Given the description of an element on the screen output the (x, y) to click on. 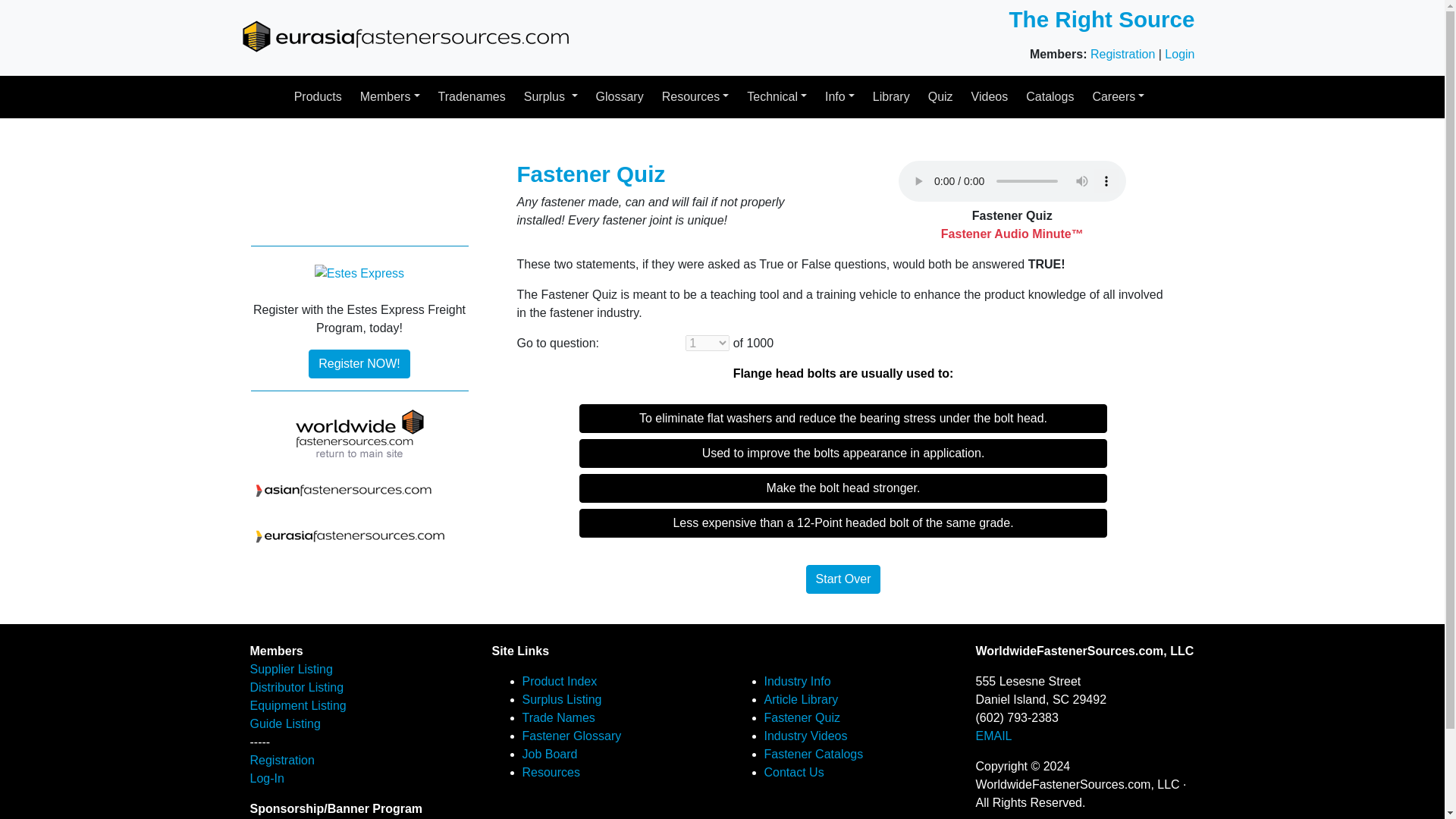
Glossary (619, 96)
Members (389, 96)
Login (1178, 52)
Products (317, 96)
Resources (695, 96)
Registration (1122, 52)
Tradenames (472, 96)
Surplus (550, 96)
